Given the description of an element on the screen output the (x, y) to click on. 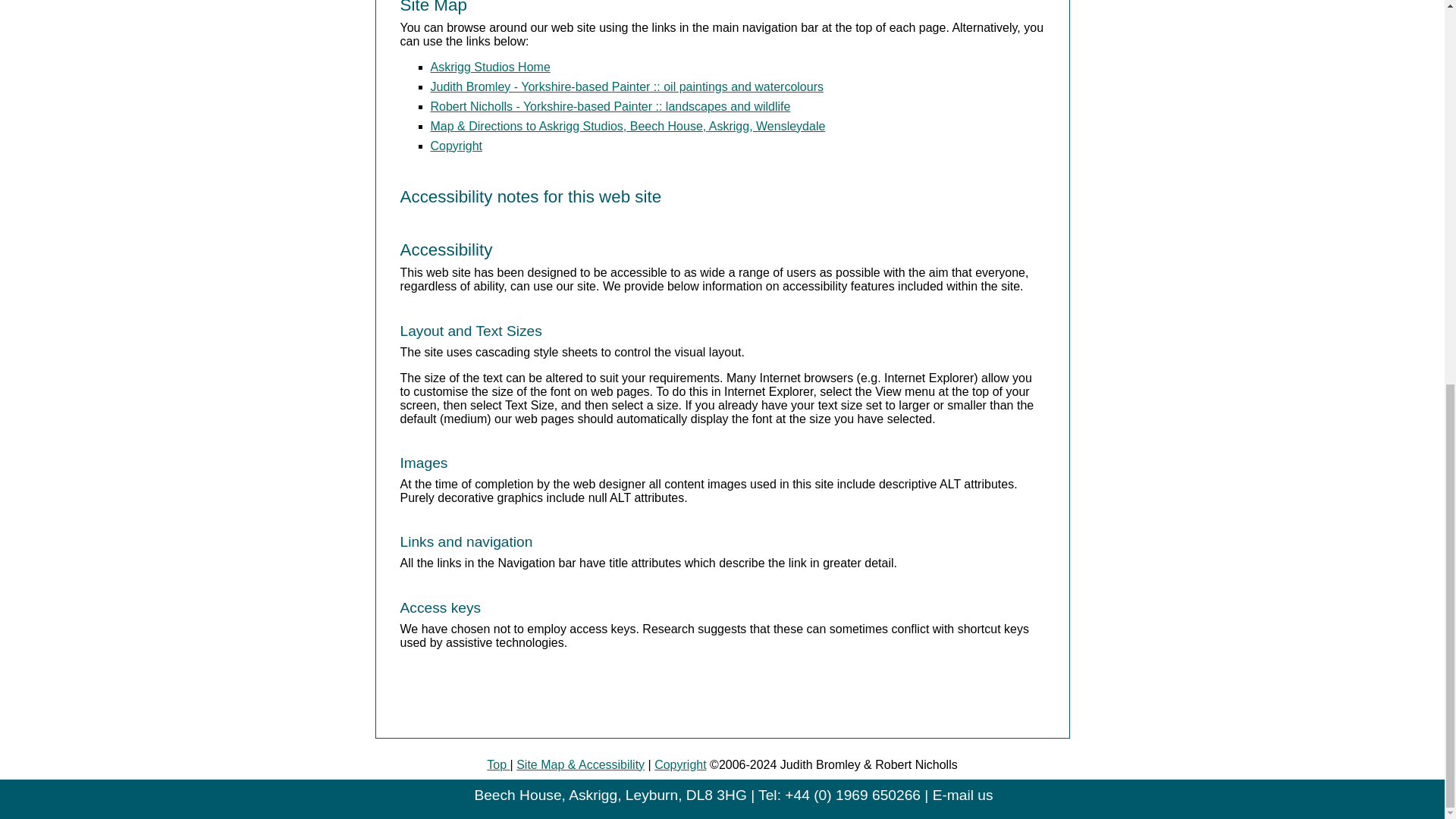
Top (497, 764)
Askrigg Studios Home (490, 66)
Copyright (679, 764)
Askrigg Studios and Beech House Gallery home page (490, 66)
E-mail us (962, 795)
Copyright (455, 145)
